Given the description of an element on the screen output the (x, y) to click on. 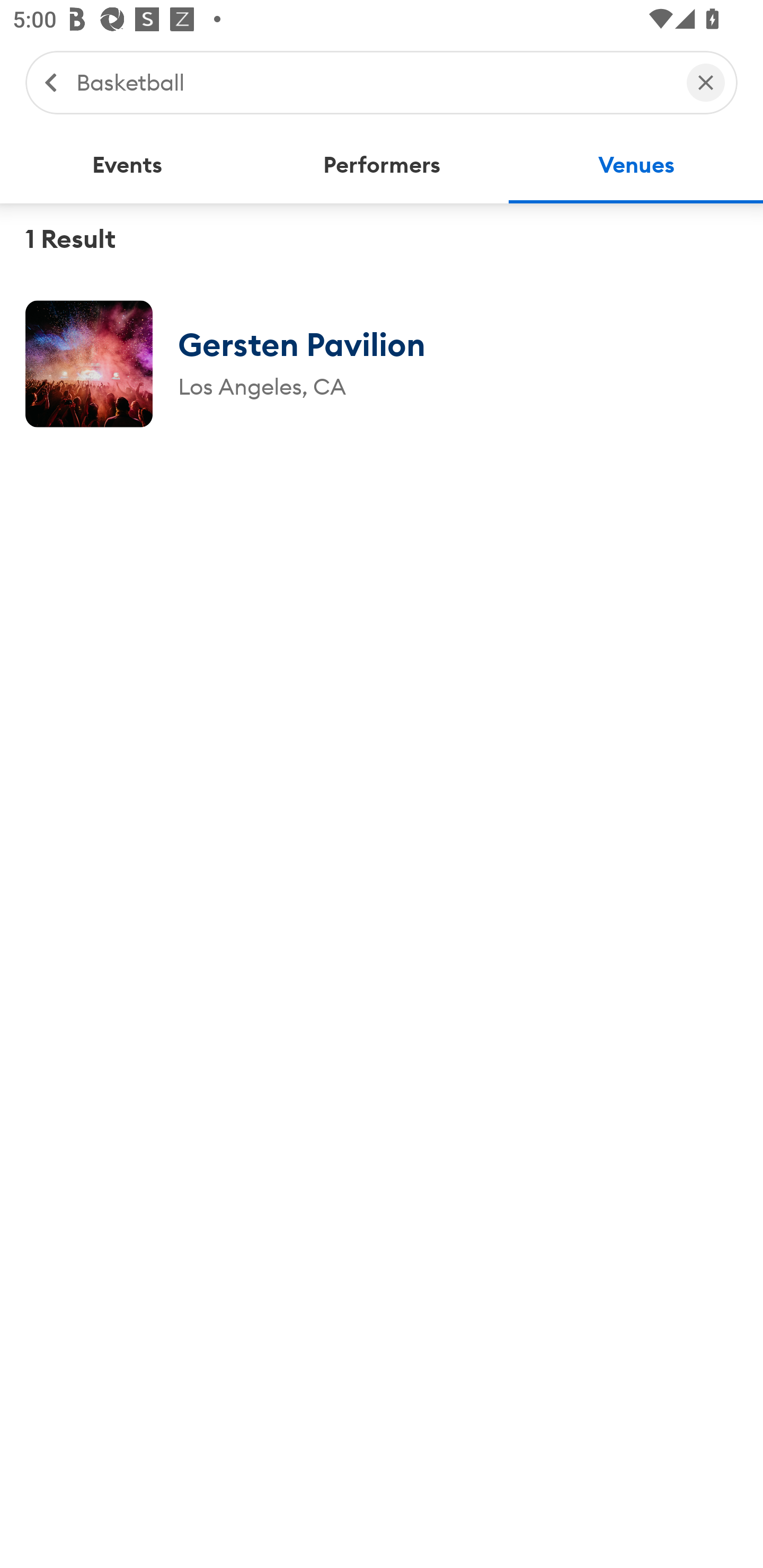
Basketball (371, 81)
Clear Search (705, 81)
Events (127, 165)
Performers (381, 165)
Gersten Pavilion Los Angeles, CA (381, 363)
